Given the description of an element on the screen output the (x, y) to click on. 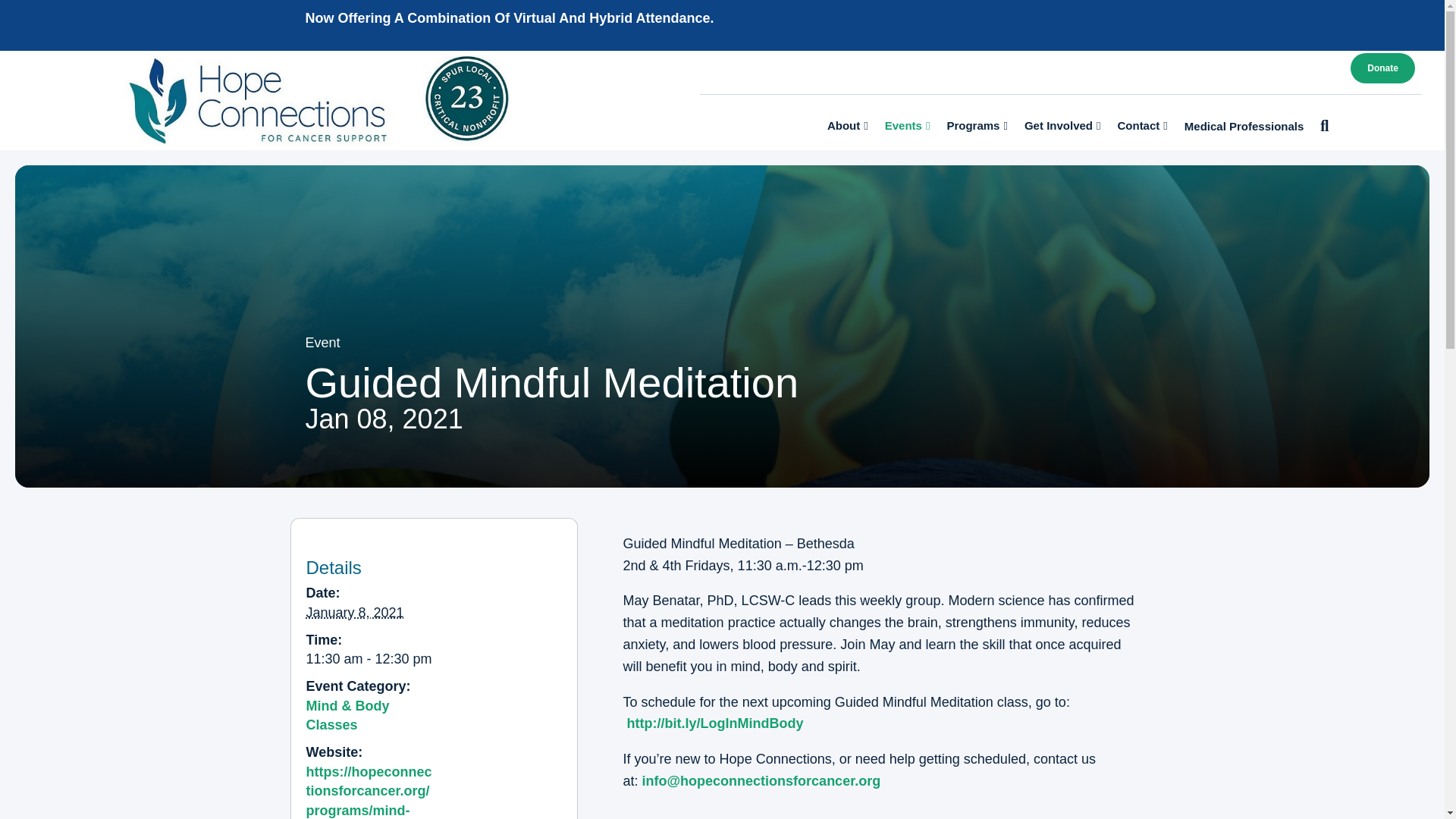
2021-01-08 (354, 612)
2021-01-08 (369, 659)
